Given the description of an element on the screen output the (x, y) to click on. 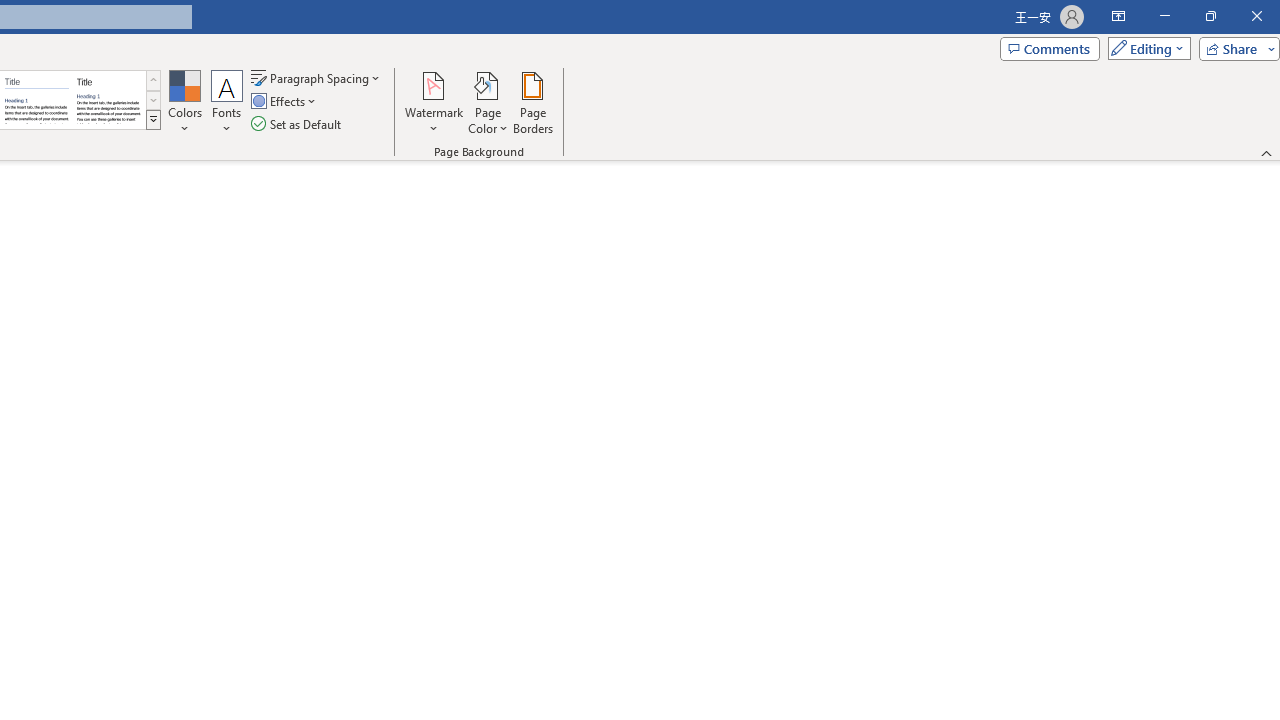
Paragraph Spacing (317, 78)
Page Color (487, 102)
Word 2010 (36, 100)
Word 2013 (108, 100)
Watermark (434, 102)
Style Set (153, 120)
Set as Default (298, 124)
